Given the description of an element on the screen output the (x, y) to click on. 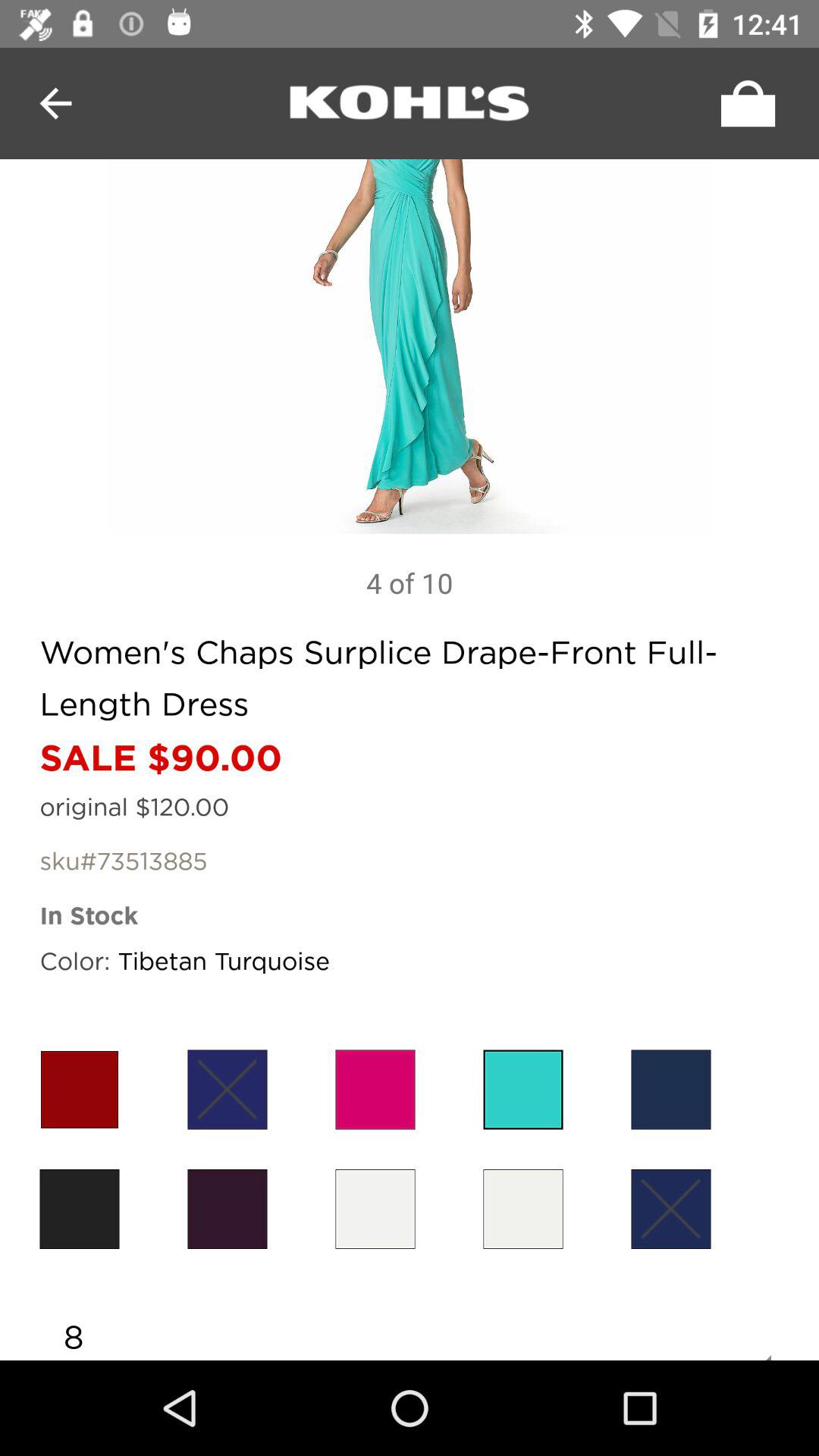
select colour (670, 1089)
